Given the description of an element on the screen output the (x, y) to click on. 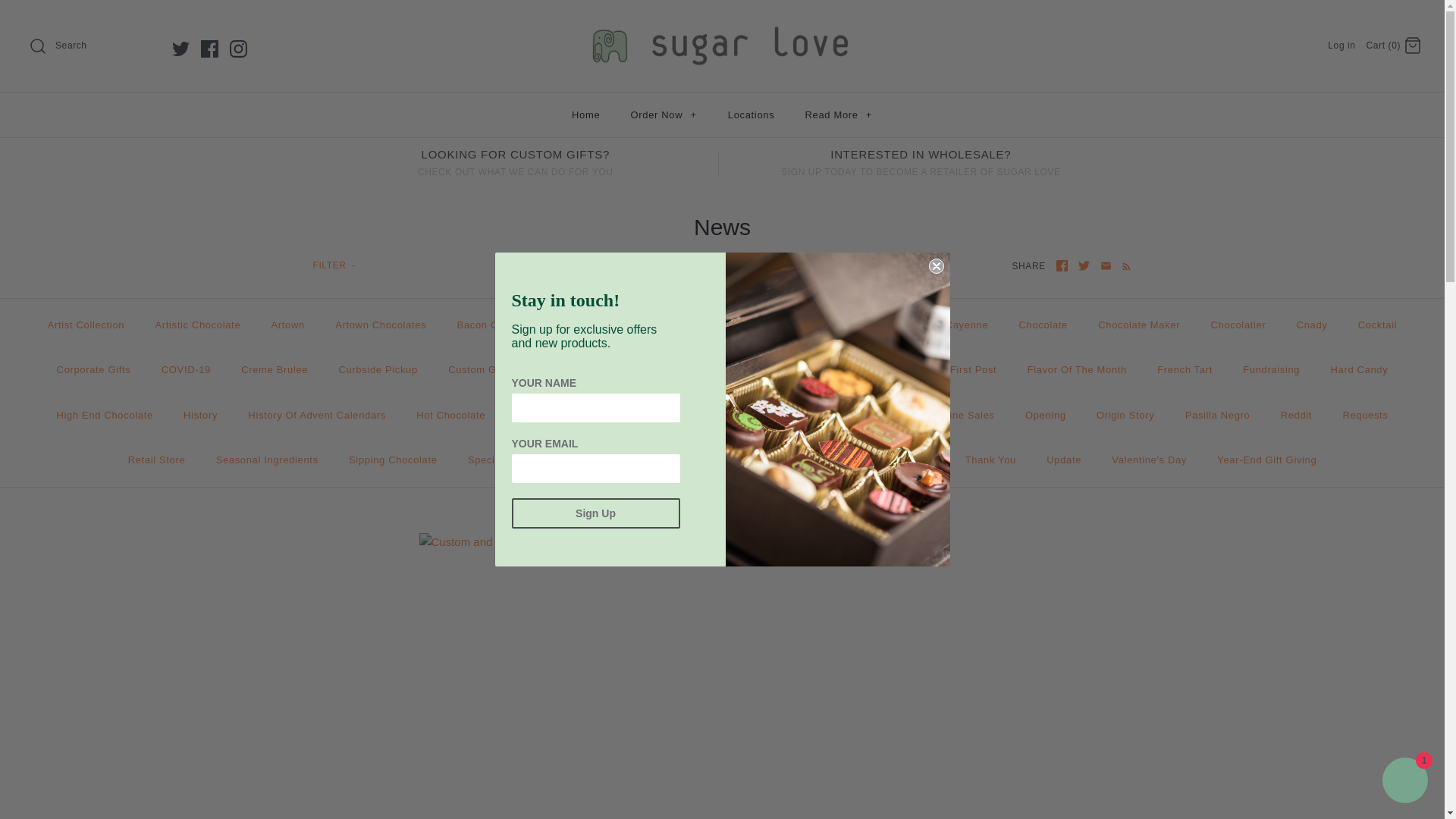
Instagram (238, 48)
Home (584, 115)
TWITTER (1083, 265)
TWITTER (1083, 265)
Locations (751, 115)
Show articles tagged artown (287, 325)
Show articles tagged banana foster caramel (627, 325)
Artown (287, 325)
News RSS (1123, 265)
Show articles tagged artistic chocolate (197, 325)
Twitter (180, 48)
Log in (1341, 45)
RSS (1126, 266)
Instagram (238, 48)
EMAIL (1106, 265)
